Given the description of an element on the screen output the (x, y) to click on. 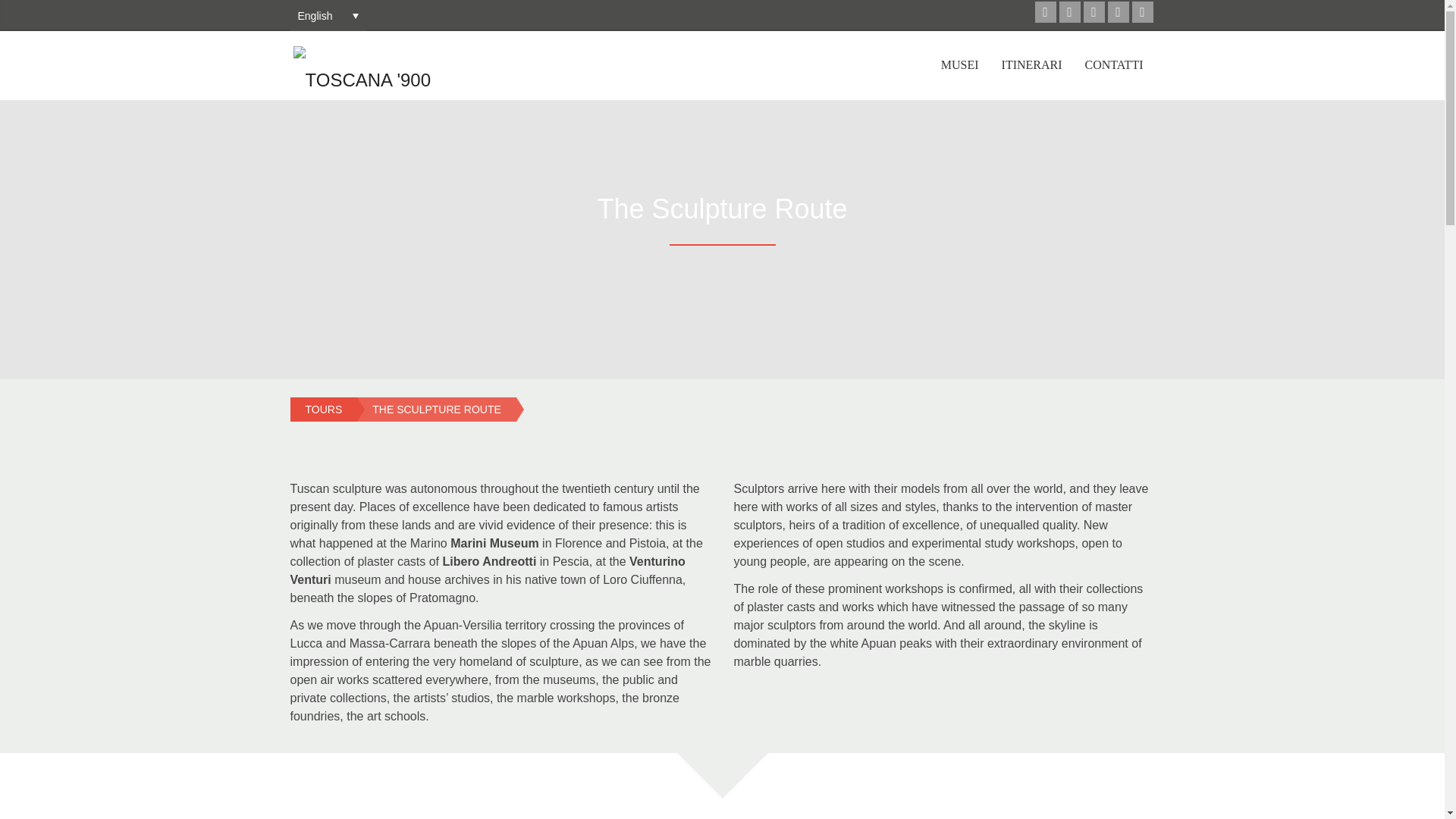
Twitter (1069, 11)
English (327, 15)
CONTATTI (1114, 65)
ITINERARI (1032, 65)
LinkedIn (1093, 11)
TOURS (322, 409)
Instagram (1142, 11)
YouTube (1117, 11)
Facebook (1044, 11)
